Given the description of an element on the screen output the (x, y) to click on. 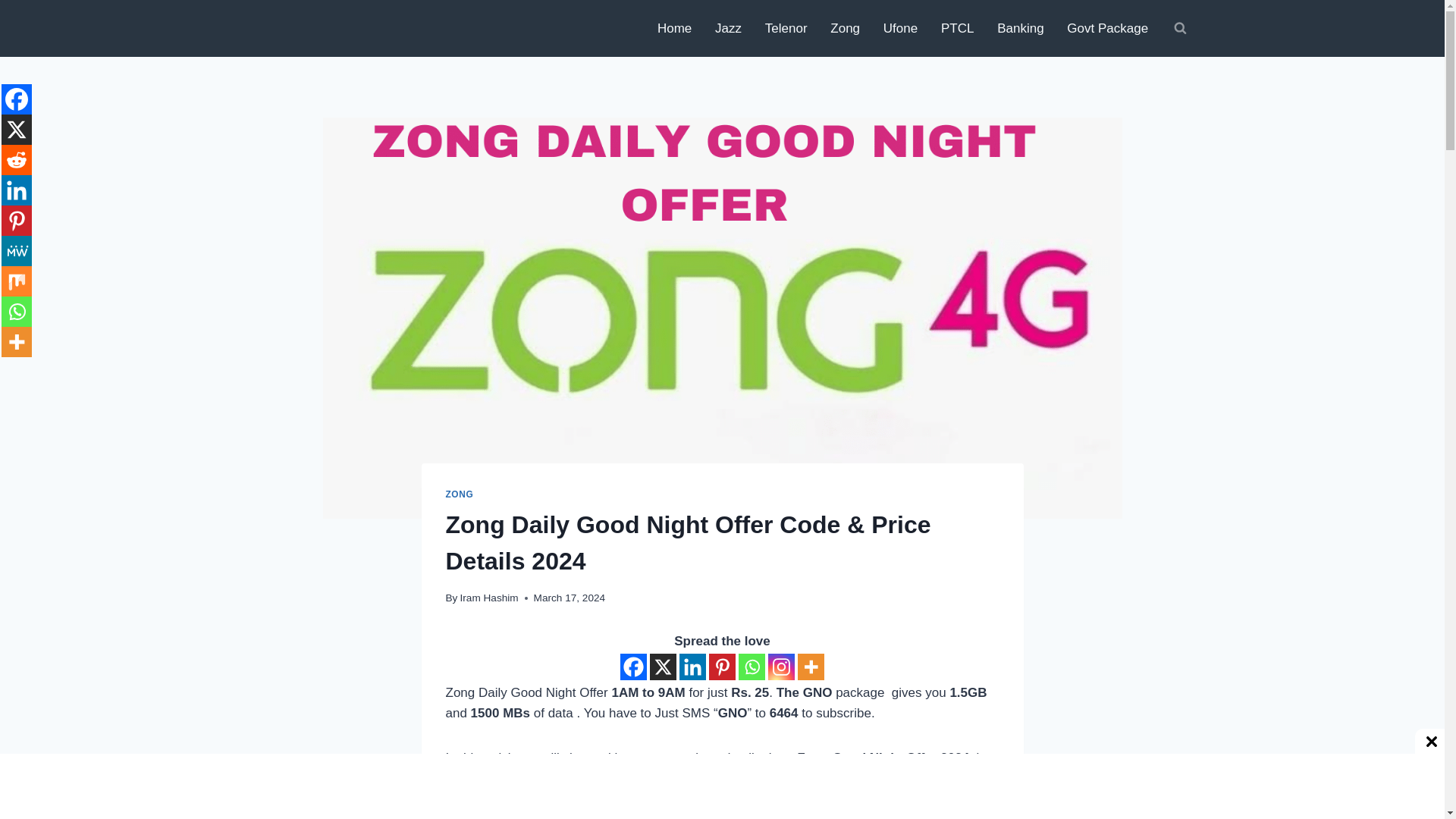
Zong (845, 28)
Telenor (785, 28)
Instagram (781, 666)
Jazz (728, 28)
Ufone (899, 28)
Home (674, 28)
Linkedin (692, 666)
Iram Hashim (489, 597)
Whatsapp (751, 666)
Banking (1020, 28)
X (663, 666)
Facebook (633, 666)
Pinterest (722, 666)
X (16, 129)
Facebook (16, 99)
